Given the description of an element on the screen output the (x, y) to click on. 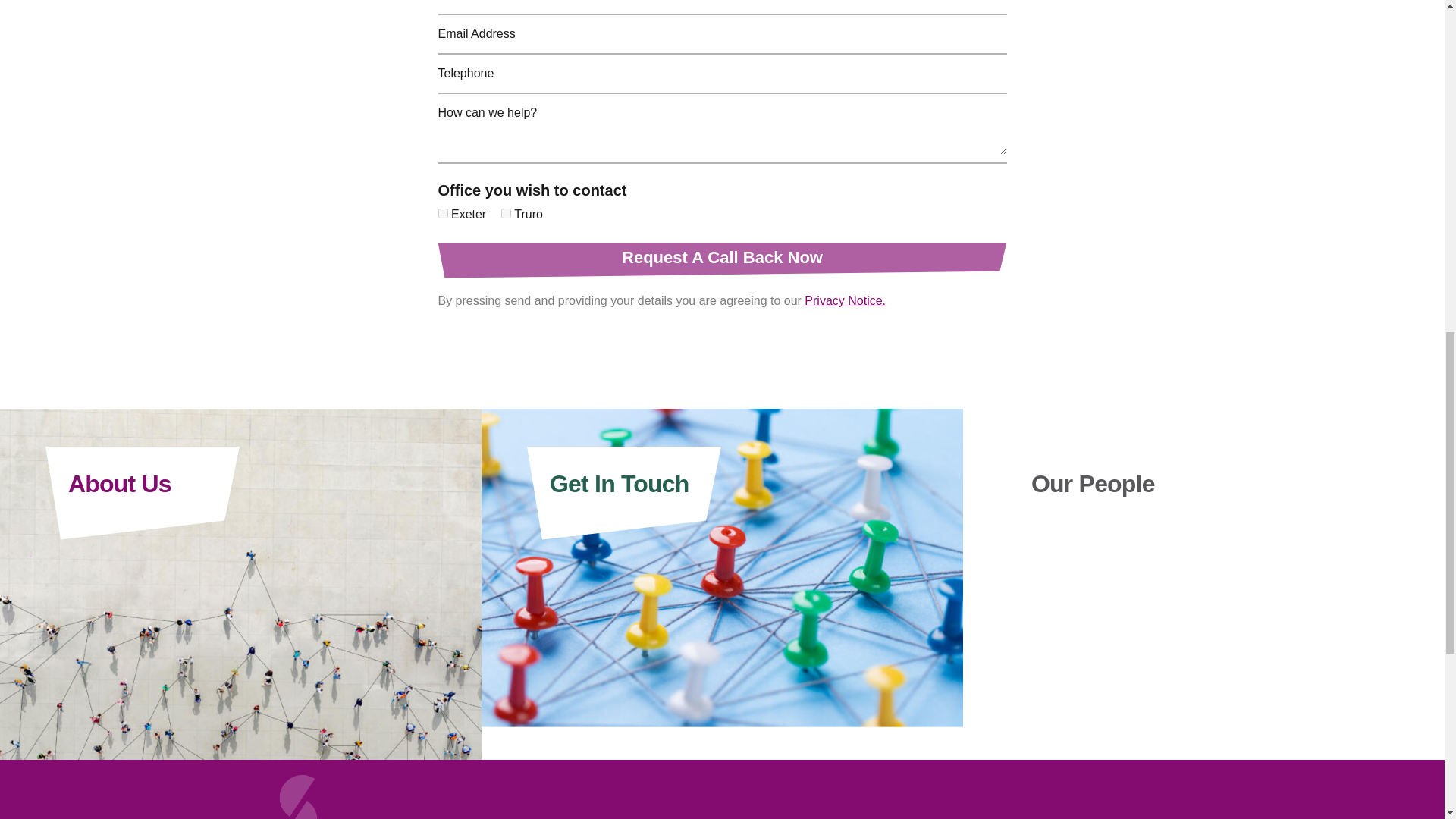
Truro (505, 213)
Exeter (443, 213)
Request A Call Back Now (722, 260)
